Given the description of an element on the screen output the (x, y) to click on. 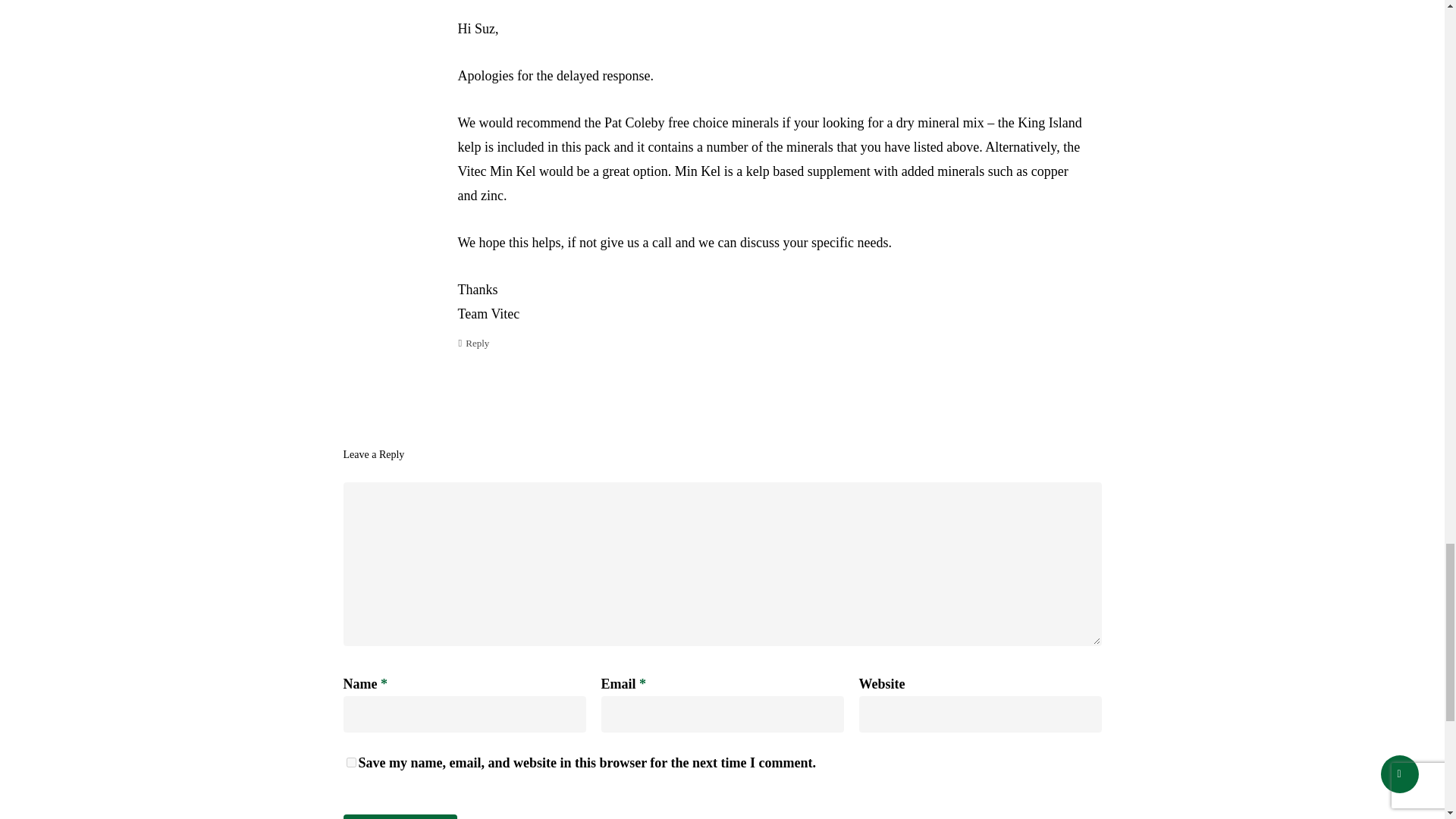
yes (350, 762)
Submit Comment (399, 816)
